Given the description of an element on the screen output the (x, y) to click on. 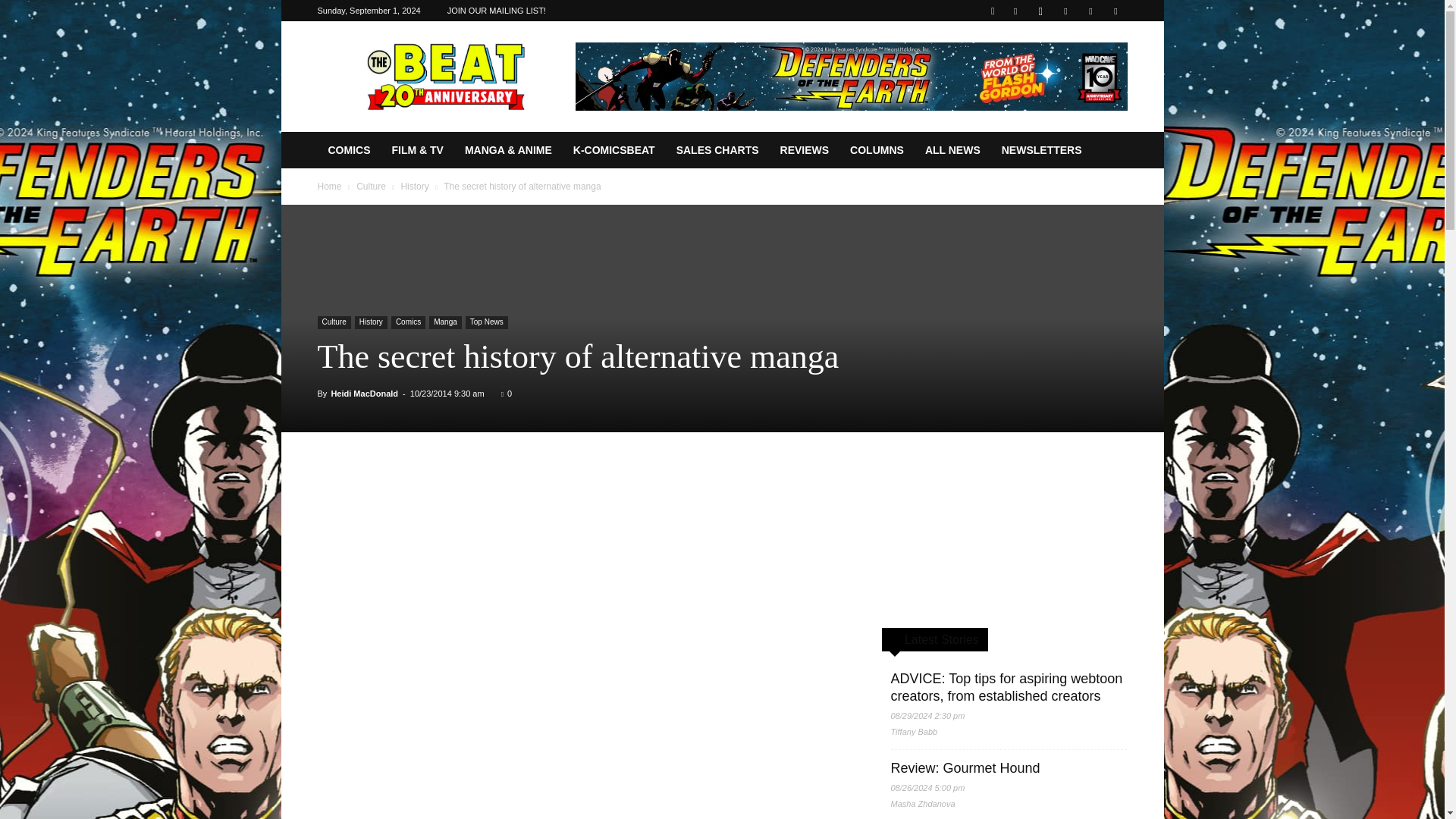
COLUMNS (877, 149)
RSS (1065, 10)
Twitter (1090, 10)
Instagram (1040, 10)
Youtube (1114, 10)
Search (1085, 64)
K-COMICSBEAT (613, 149)
NEWSLETTERS (1042, 149)
COMICS (348, 149)
View all posts in Culture (370, 185)
